Given the description of an element on the screen output the (x, y) to click on. 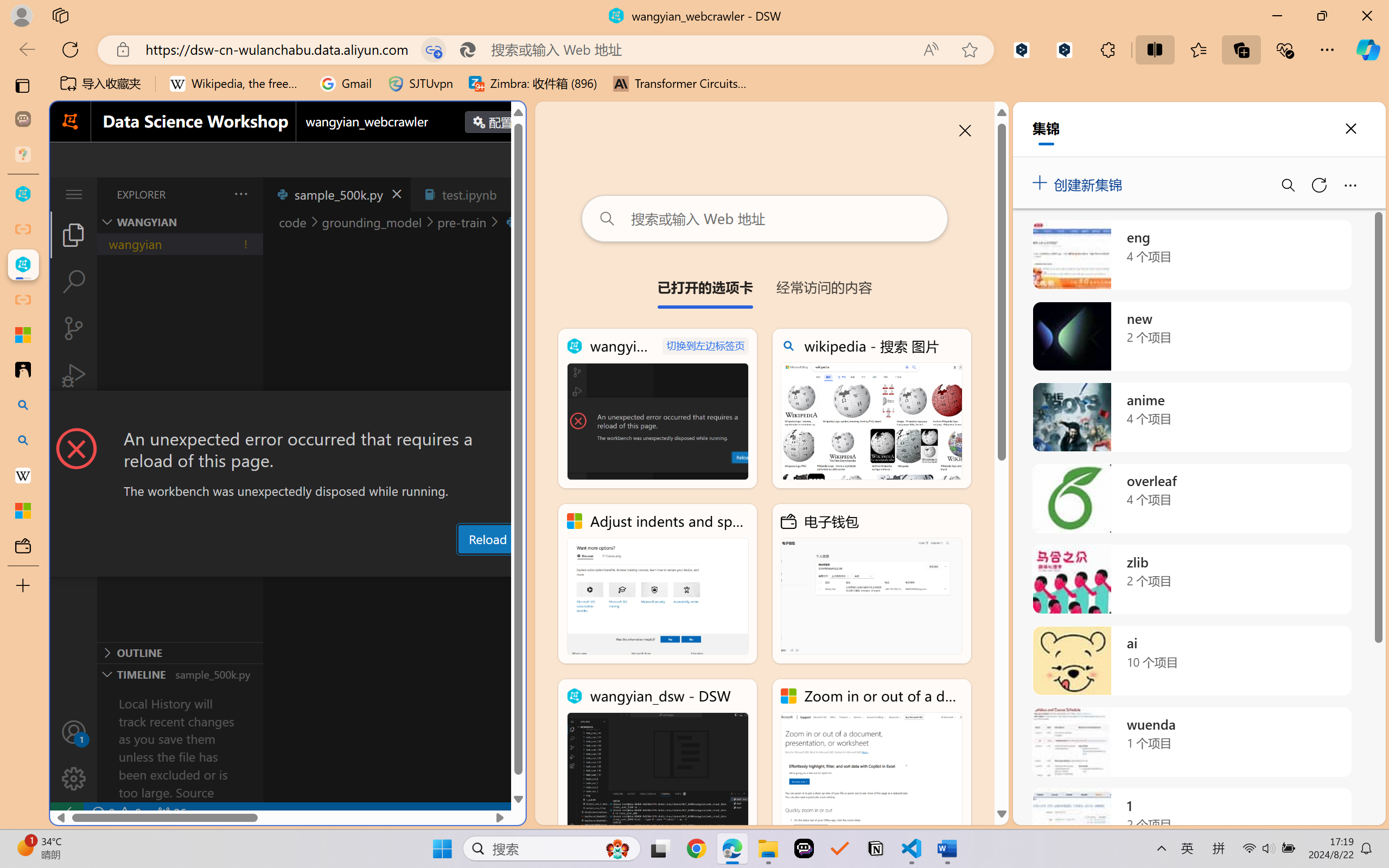
Search (Ctrl+Shift+F) (73, 281)
Gmail (345, 83)
sample_500k.py (336, 194)
wangyian_webcrawler - DSW (657, 408)
Explorer actions (212, 194)
Class: menubar compact overflow-menu-only (73, 194)
Adjust indents and spacing - Microsoft Support (22, 334)
Close (Ctrl+F4) (512, 194)
